Given the description of an element on the screen output the (x, y) to click on. 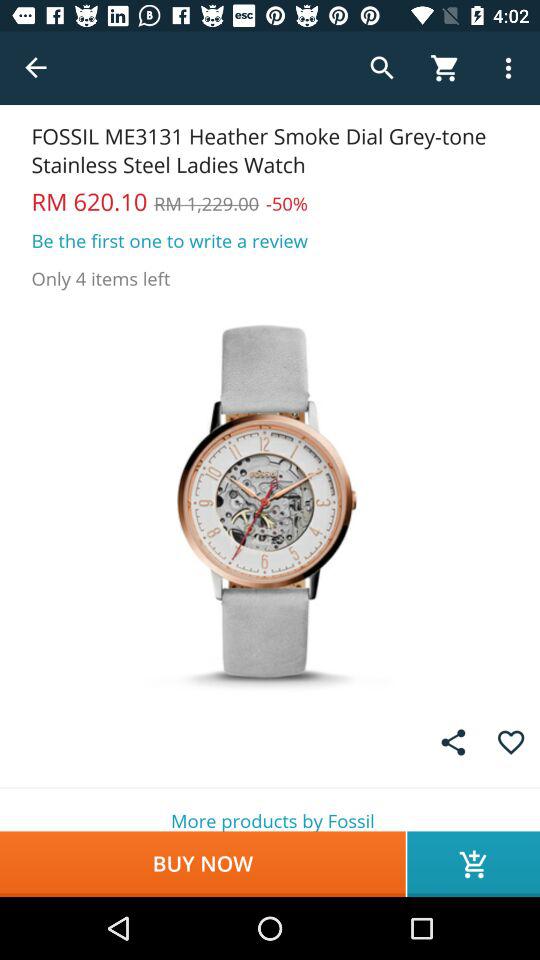
open image (269, 500)
